Given the description of an element on the screen output the (x, y) to click on. 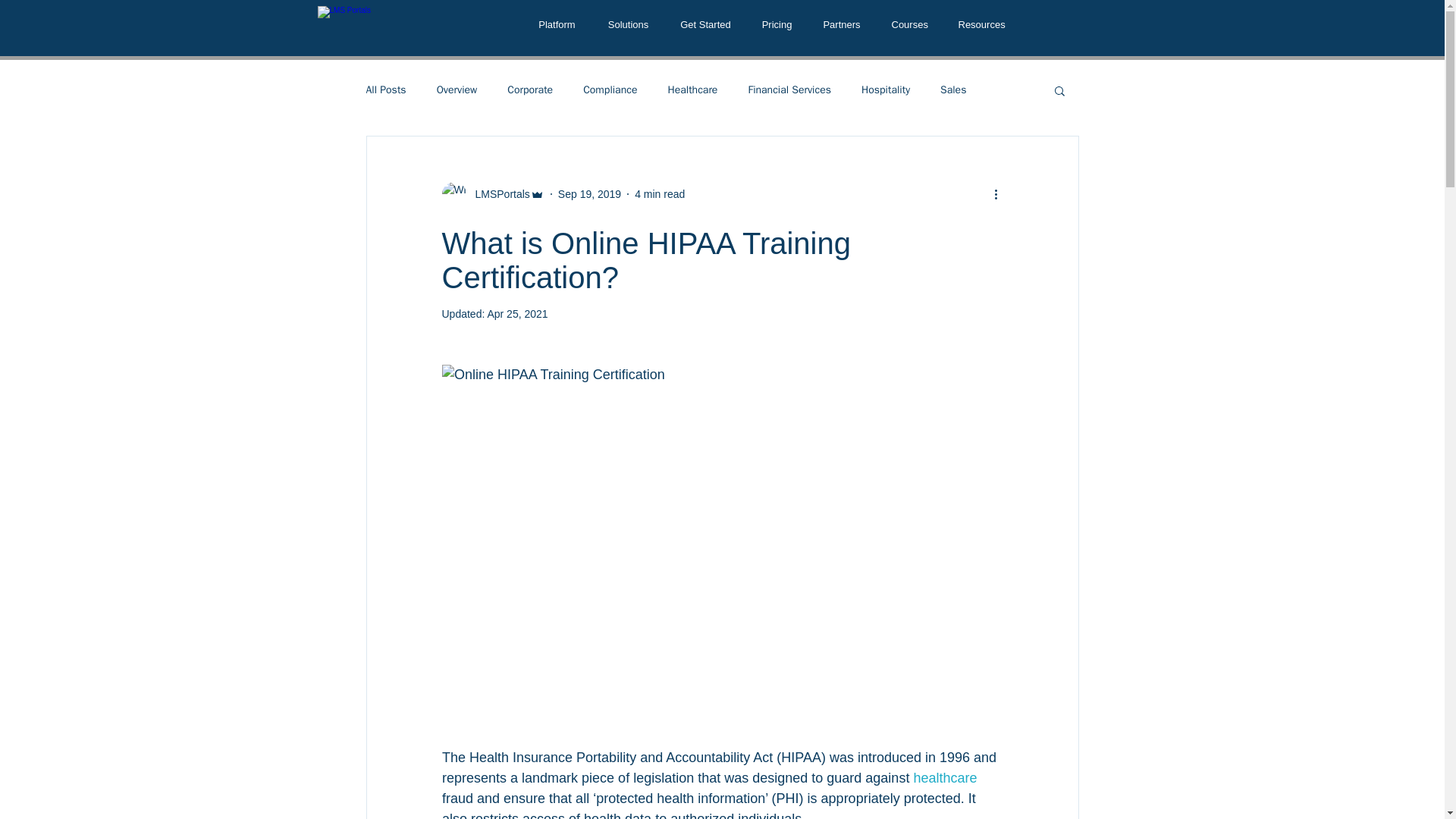
Pricing (775, 24)
Healthcare (691, 90)
Overview (456, 90)
All Posts (385, 90)
LMSPortals (497, 194)
healthcare (944, 777)
Partners (841, 24)
Financial Services (789, 90)
Sales (953, 90)
LMSPortals (492, 193)
Compliance (610, 90)
Platform (556, 24)
Corporate (529, 90)
Hospitality (885, 90)
4 min read (659, 193)
